Given the description of an element on the screen output the (x, y) to click on. 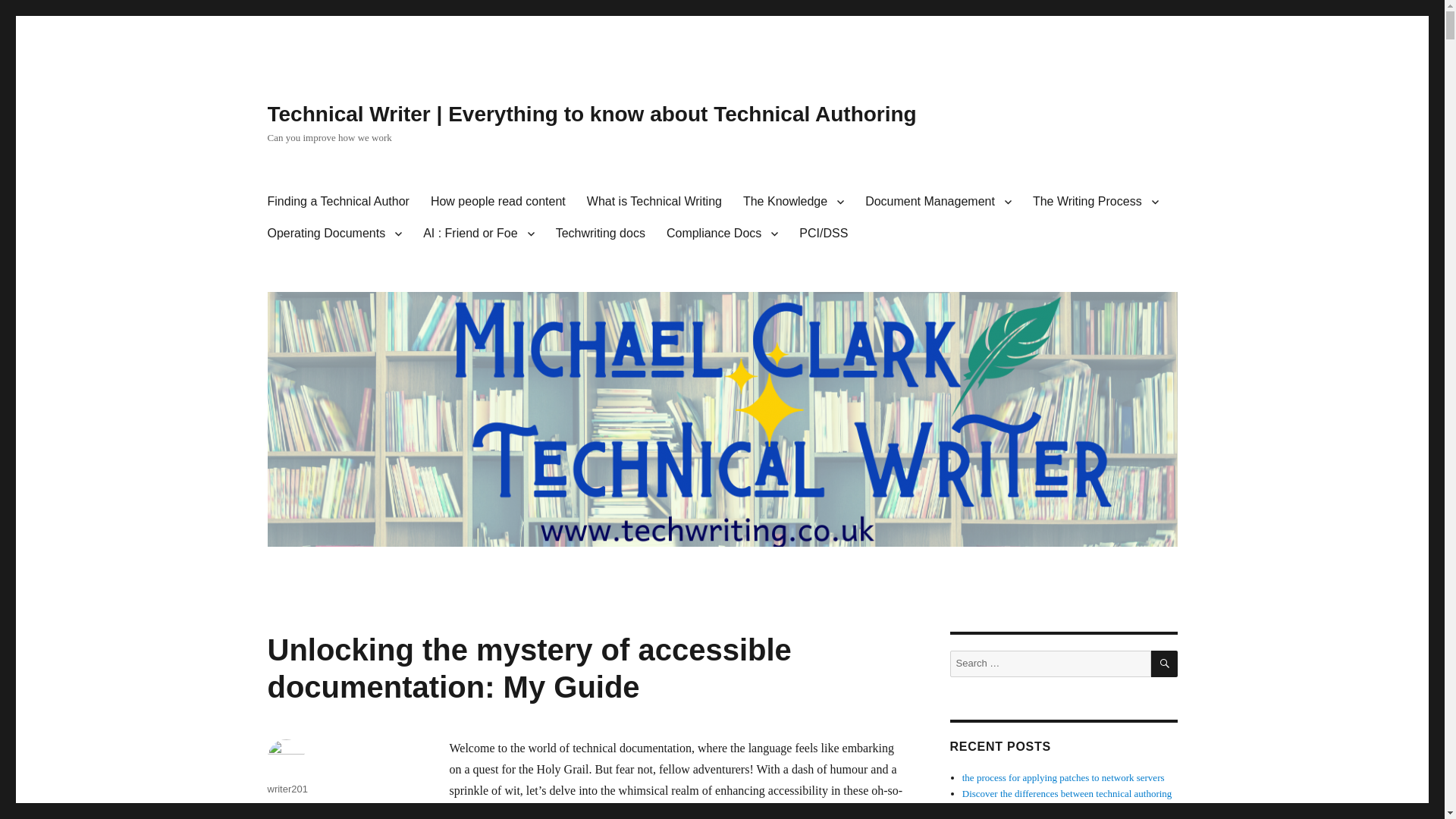
Techwriting docs (600, 233)
Compliance Docs (722, 233)
The Writing Process (1095, 201)
What is Technical Writing (654, 201)
Operating Documents (334, 233)
AI : Friend or Foe (478, 233)
Finding a Technical Author (337, 201)
How people read content (498, 201)
Document Management (938, 201)
The Knowledge (793, 201)
